Given the description of an element on the screen output the (x, y) to click on. 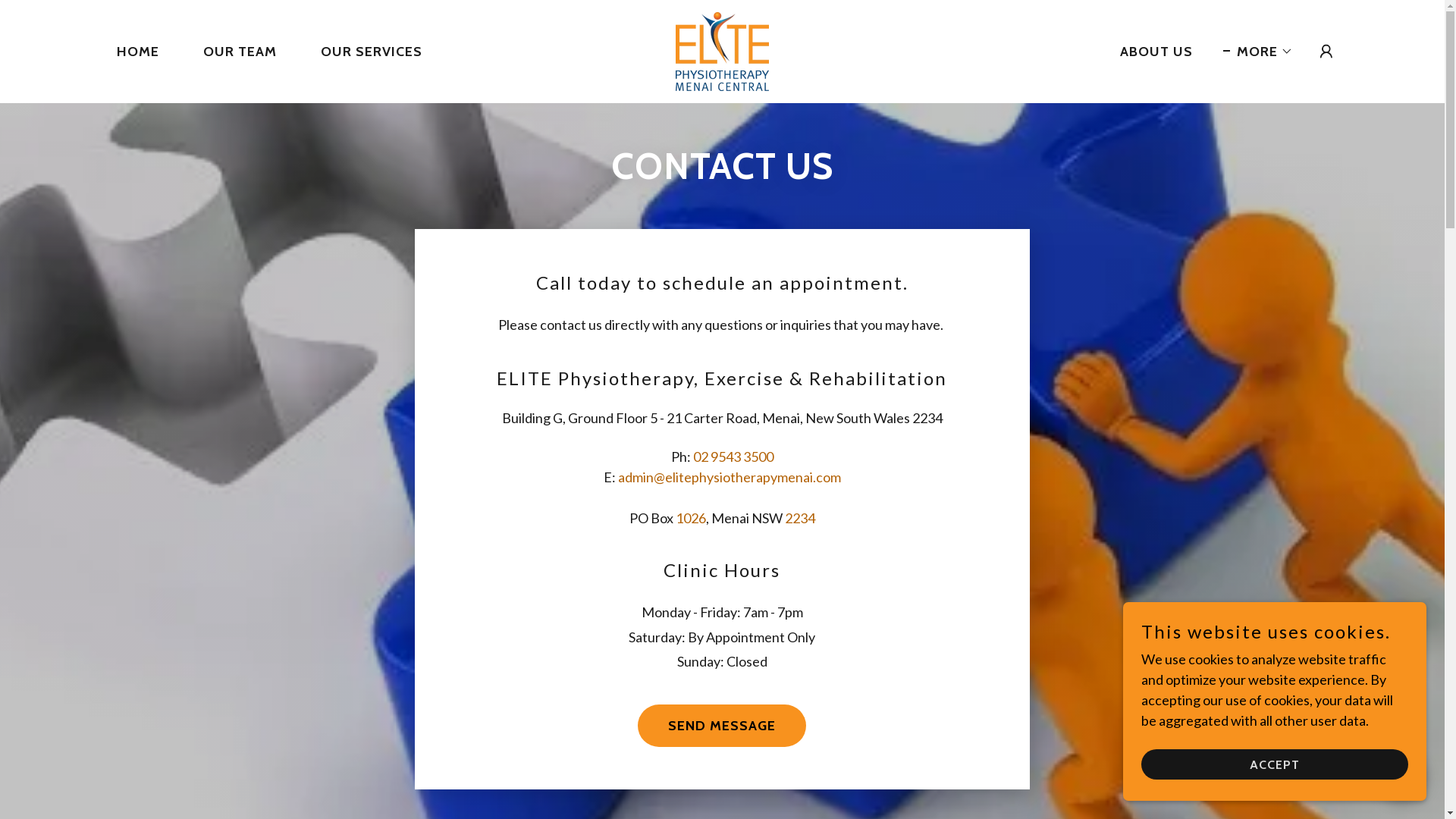
SEND MESSAGE Element type: text (721, 725)
ACCEPT Element type: text (1274, 764)
1026 Element type: text (690, 517)
2234 Element type: text (799, 517)
admin@elitephysiotherapymenai.com Element type: text (729, 476)
MORE Element type: text (1257, 51)
ABOUT US Element type: text (1149, 51)
OUR TEAM Element type: text (233, 51)
HOME Element type: text (130, 51)
OUR SERVICES Element type: text (364, 51)
02 9543 3500 Element type: text (733, 456)
Elite Physiotherapy, Exercise & Rehabilitation Element type: hover (721, 49)
